Given the description of an element on the screen output the (x, y) to click on. 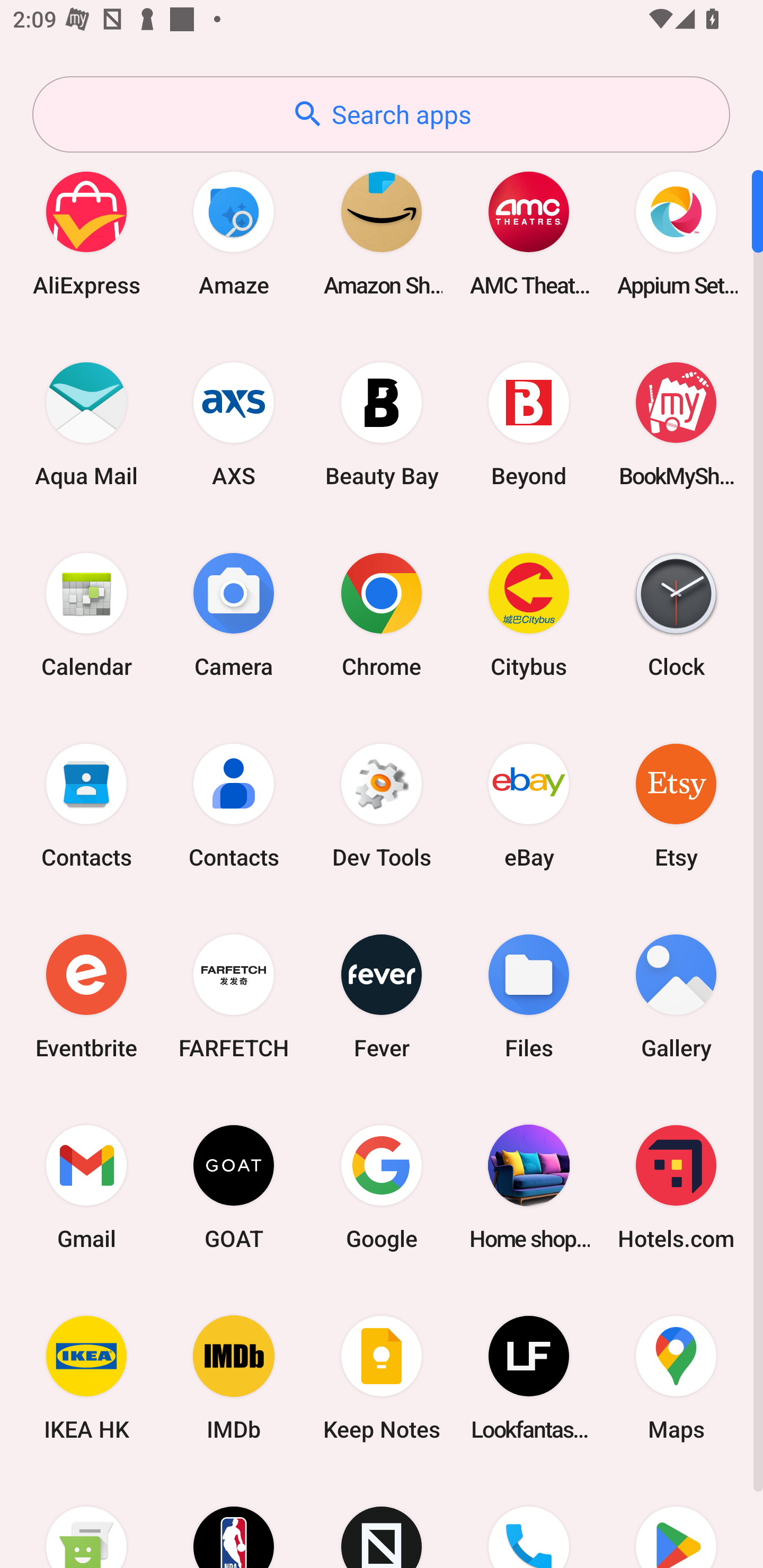
  Search apps (381, 114)
AliExpress (86, 233)
Amaze (233, 233)
Amazon Shopping (381, 233)
AMC Theatres (528, 233)
Appium Settings (676, 233)
Aqua Mail (86, 424)
AXS (233, 424)
Beauty Bay (381, 424)
Beyond (528, 424)
BookMyShow (676, 424)
Calendar (86, 614)
Camera (233, 614)
Chrome (381, 614)
Citybus (528, 614)
Clock (676, 614)
Contacts (86, 805)
Contacts (233, 805)
Dev Tools (381, 805)
eBay (528, 805)
Etsy (676, 805)
Eventbrite (86, 996)
FARFETCH (233, 996)
Fever (381, 996)
Files (528, 996)
Gallery (676, 996)
Gmail (86, 1186)
GOAT (233, 1186)
Google (381, 1186)
Home shopping (528, 1186)
Hotels.com (676, 1186)
IKEA HK (86, 1377)
IMDb (233, 1377)
Keep Notes (381, 1377)
Lookfantastic (528, 1377)
Maps (676, 1377)
Messaging (86, 1520)
NBA (233, 1520)
Novelship (381, 1520)
Phone (528, 1520)
Play Store (676, 1520)
